Given the description of an element on the screen output the (x, y) to click on. 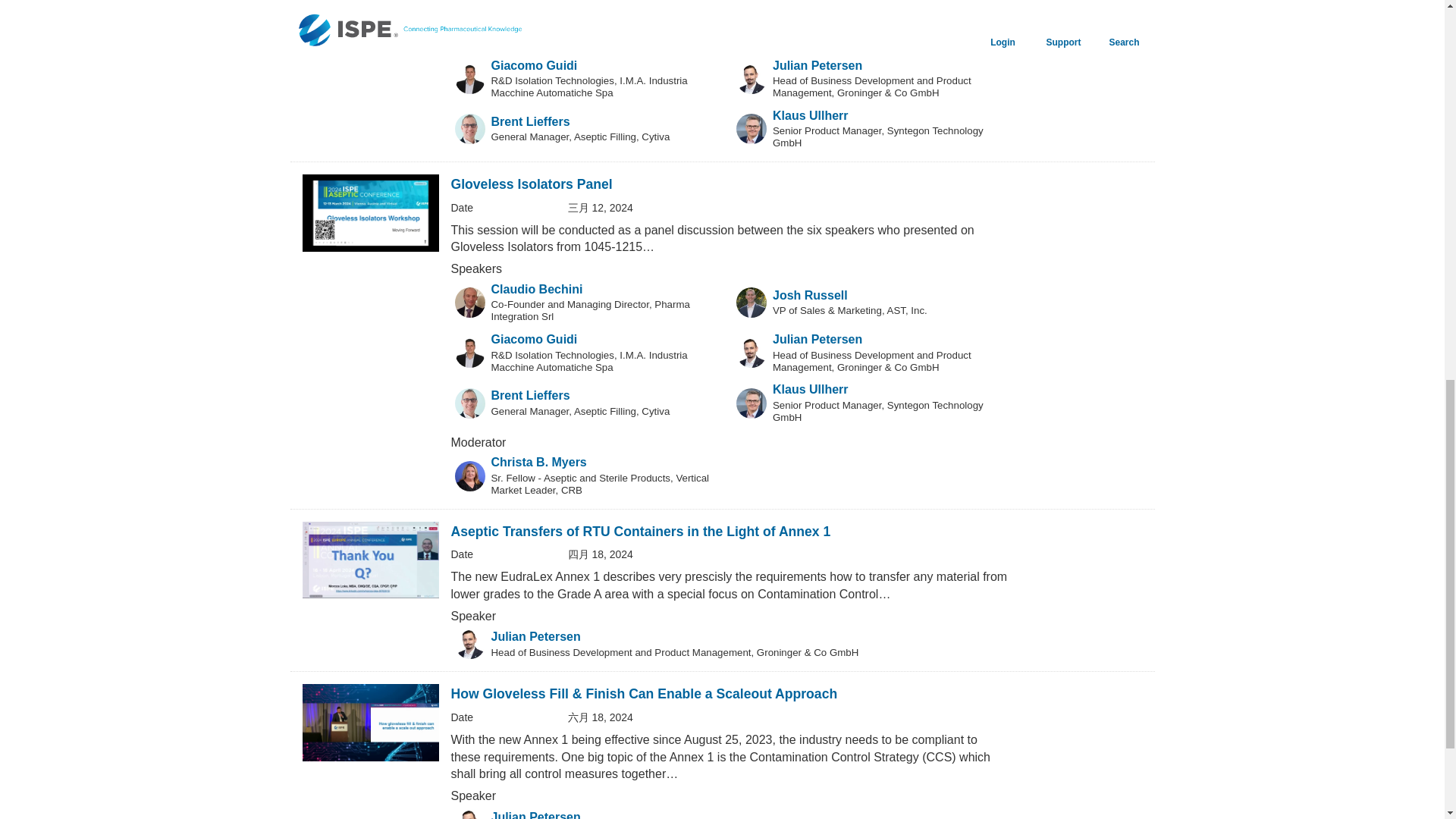
Speaker Image for Klaus Ullherr (751, 403)
Brent Lieffers (531, 121)
Aseptic Transfers of RTU Containers in the Light of Annex 1 (639, 531)
Josh Russell (810, 295)
Julian Petersen (536, 814)
Speaker Image for Julian Petersen (751, 352)
Speaker Image for Brent Lieffers (469, 403)
Speaker Image for Josh Russell (751, 302)
Josh Russell (810, 20)
Speaker Image for Brent Lieffers (469, 128)
